Given the description of an element on the screen output the (x, y) to click on. 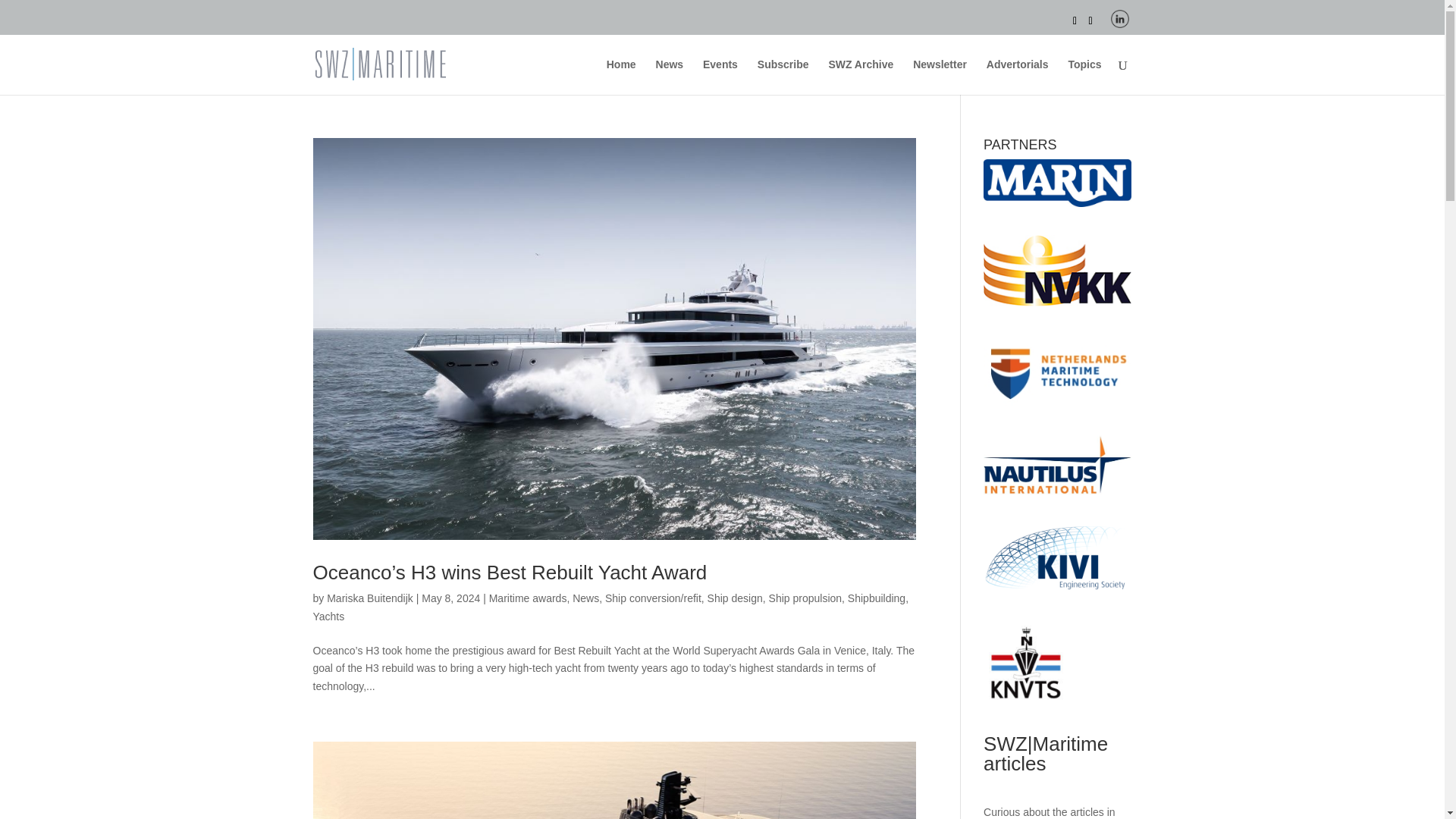
Posts by Mariska Buitendijk (369, 598)
Yachts (328, 616)
PARTNERS (1057, 182)
Mariska Buitendijk (369, 598)
SWZ Archive (860, 76)
Ship design (734, 598)
News (585, 598)
Shipbuilding (876, 598)
Subscribe (783, 76)
Topics (1083, 76)
